Given the description of an element on the screen output the (x, y) to click on. 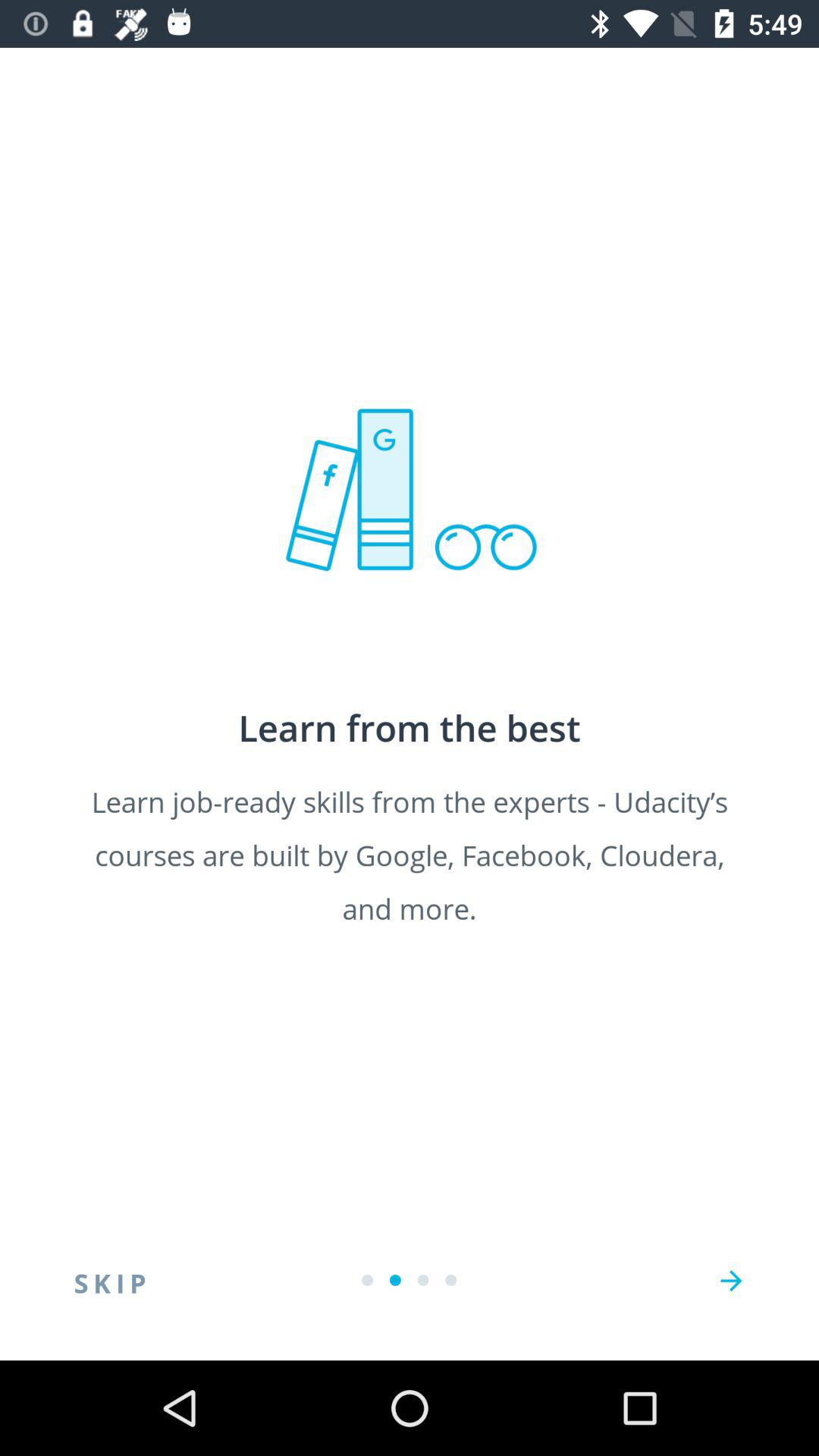
select skip at the bottom left corner (109, 1280)
